Given the description of an element on the screen output the (x, y) to click on. 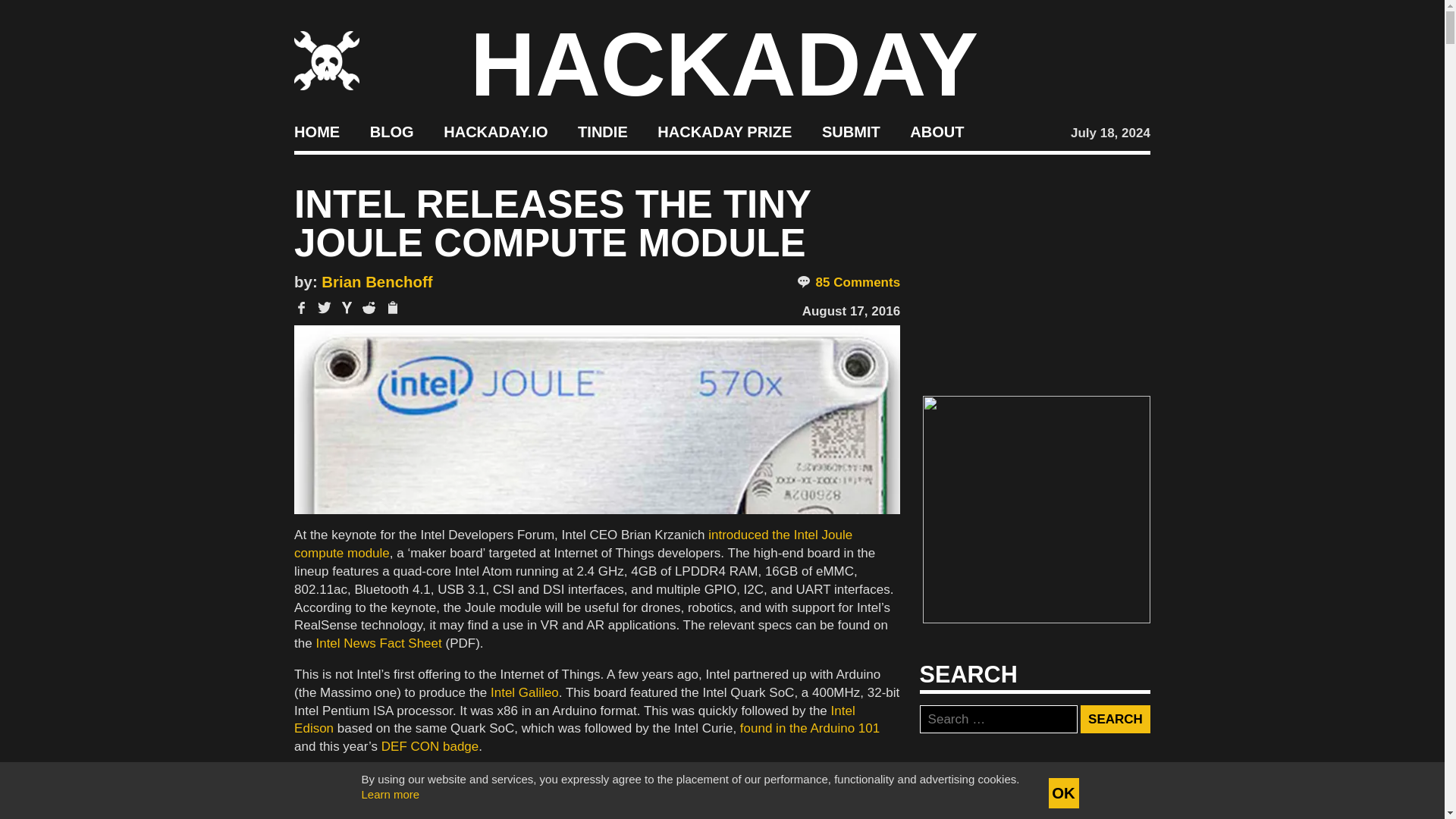
85 Comments (847, 282)
HOME (316, 131)
Share on Hacker News (347, 307)
BLOG (391, 131)
Intel Edison (575, 719)
Intel News Fact Sheet (378, 643)
HACKADAY PRIZE (725, 131)
August 17, 2016 (850, 310)
Posts by Brian Benchoff (376, 281)
Share on Twitter (324, 307)
ABOUT (936, 131)
TINDIE (602, 131)
introduced the Intel Joule compute module (572, 543)
Intel Galileo (524, 692)
Share on Facebook (301, 307)
